Given the description of an element on the screen output the (x, y) to click on. 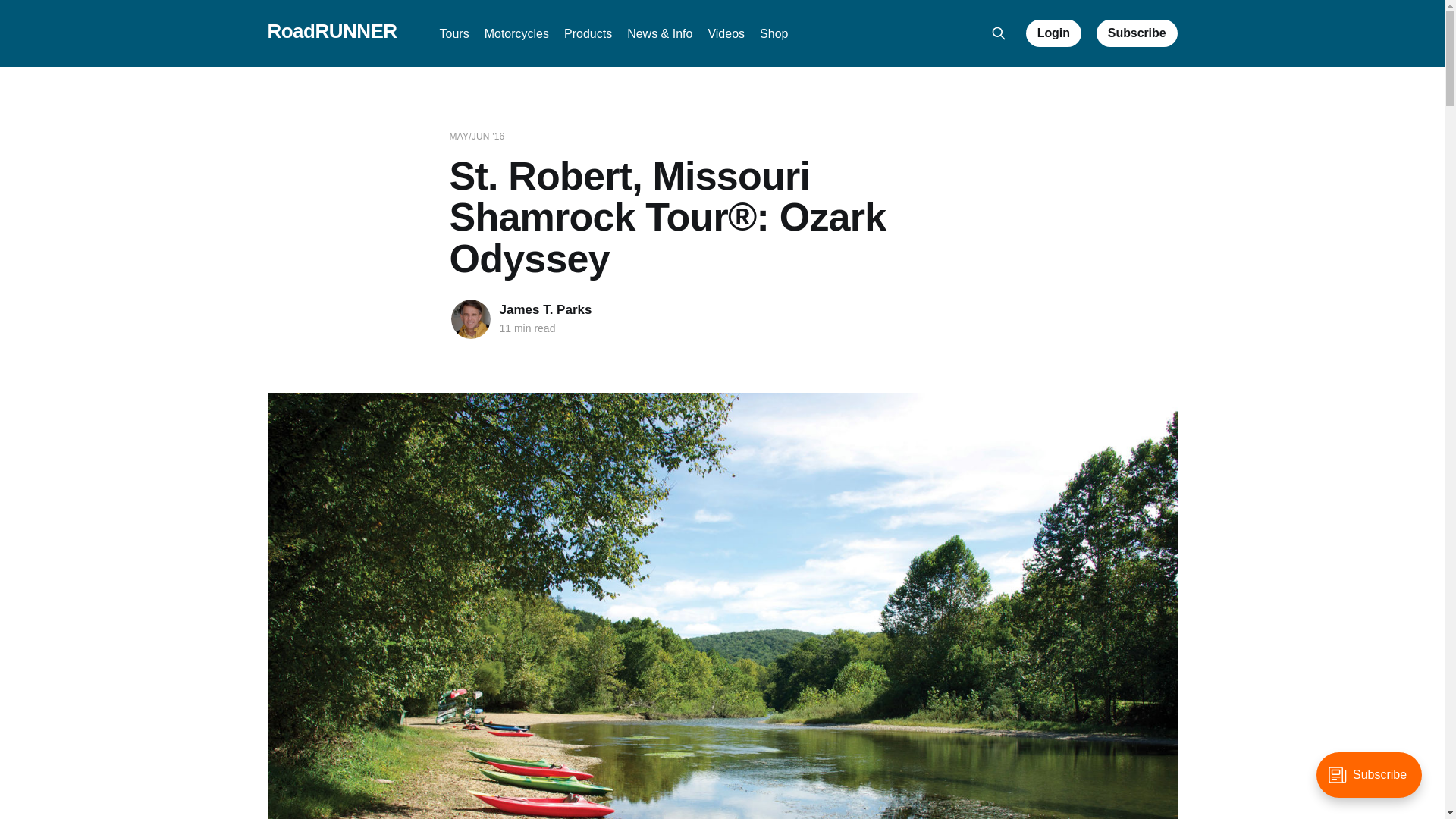
Motorcycles (516, 33)
Subscribe (1136, 33)
James T. Parks (545, 309)
Shop (773, 33)
Products (587, 33)
RoadRUNNER (331, 31)
Tours (453, 33)
Videos (725, 33)
Login (1053, 33)
